Given the description of an element on the screen output the (x, y) to click on. 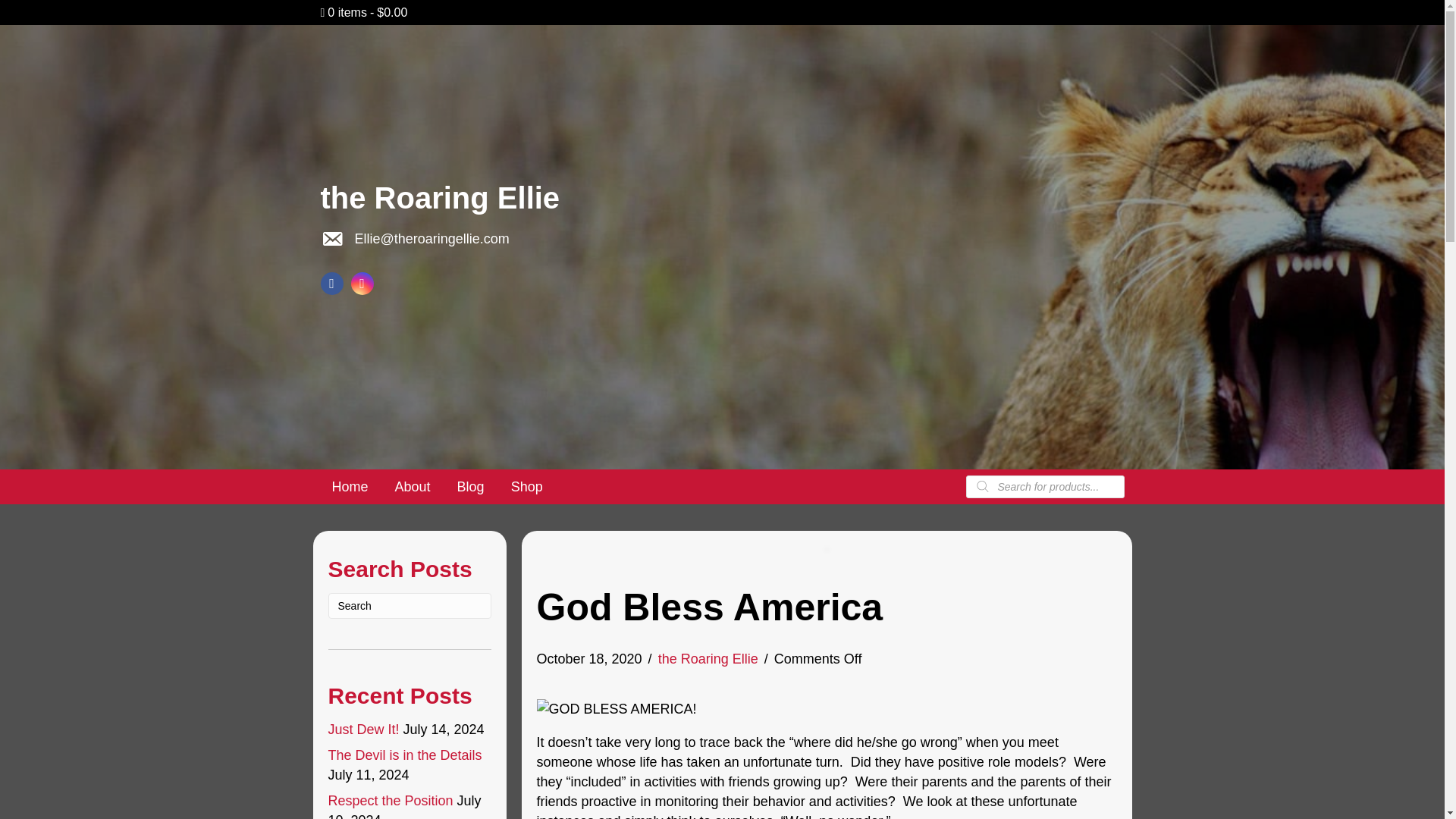
Blog (470, 486)
Respect the Position (389, 800)
Facebook (331, 282)
the Roaring Ellie (439, 197)
About (413, 486)
the Roaring Ellie (708, 658)
Type and press Enter to search. (408, 605)
Home (349, 486)
Search (408, 605)
Shop (526, 486)
Start shopping (363, 11)
Just Dew It! (362, 729)
The Devil is in the Details (404, 754)
Search (408, 605)
Instagram (362, 282)
